Given the description of an element on the screen output the (x, y) to click on. 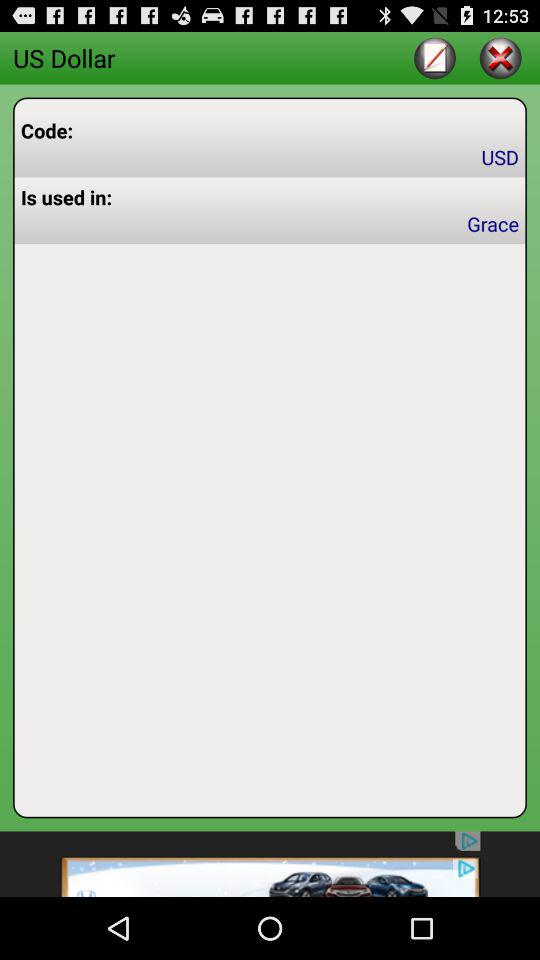
make note (434, 57)
